Given the description of an element on the screen output the (x, y) to click on. 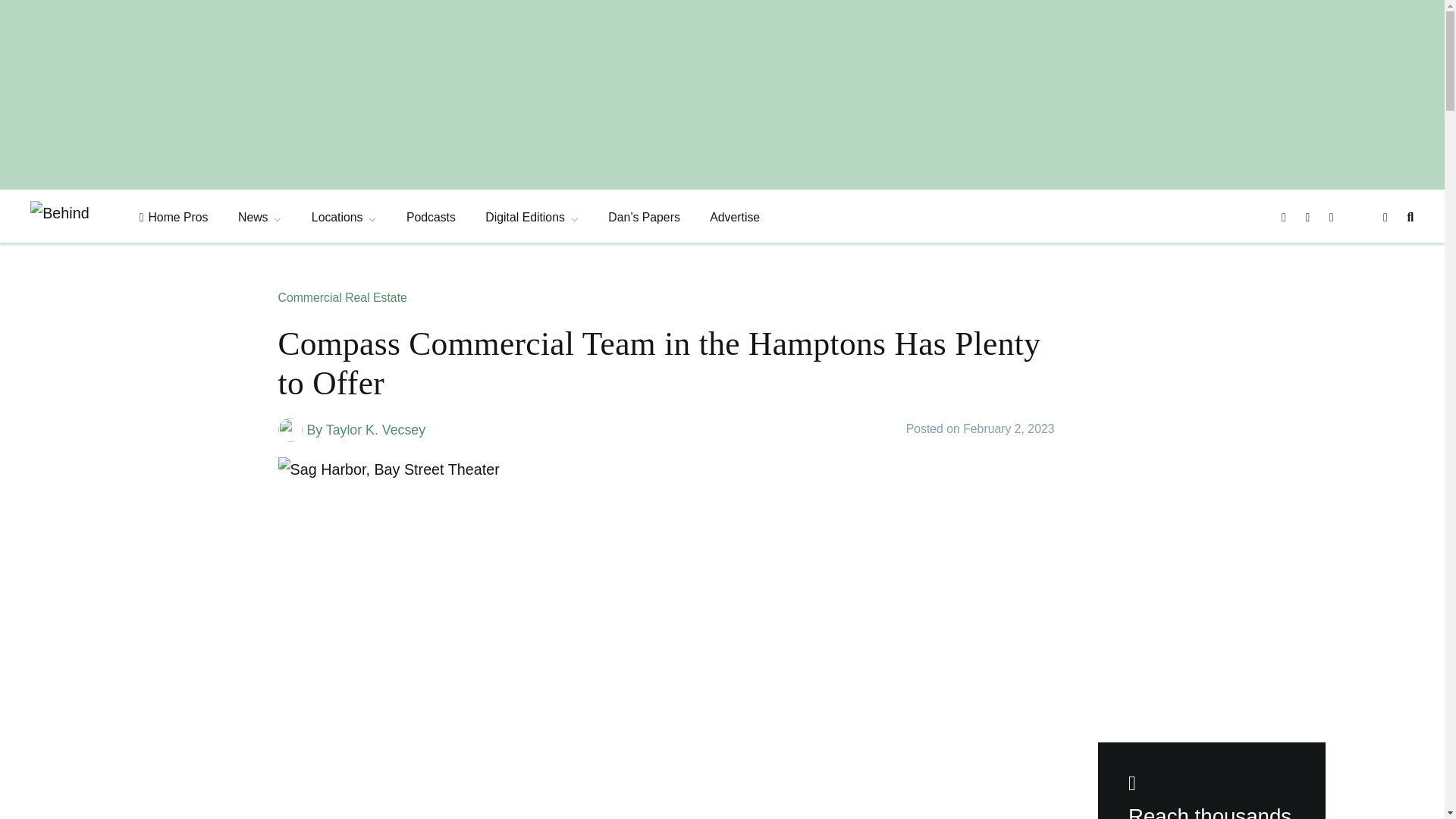
News (259, 216)
Locations (344, 216)
Home Pros (173, 216)
Digital Editions (531, 216)
Posts by Taylor K. Vecsey (375, 429)
Advertise (735, 216)
Podcasts (430, 216)
